Given the description of an element on the screen output the (x, y) to click on. 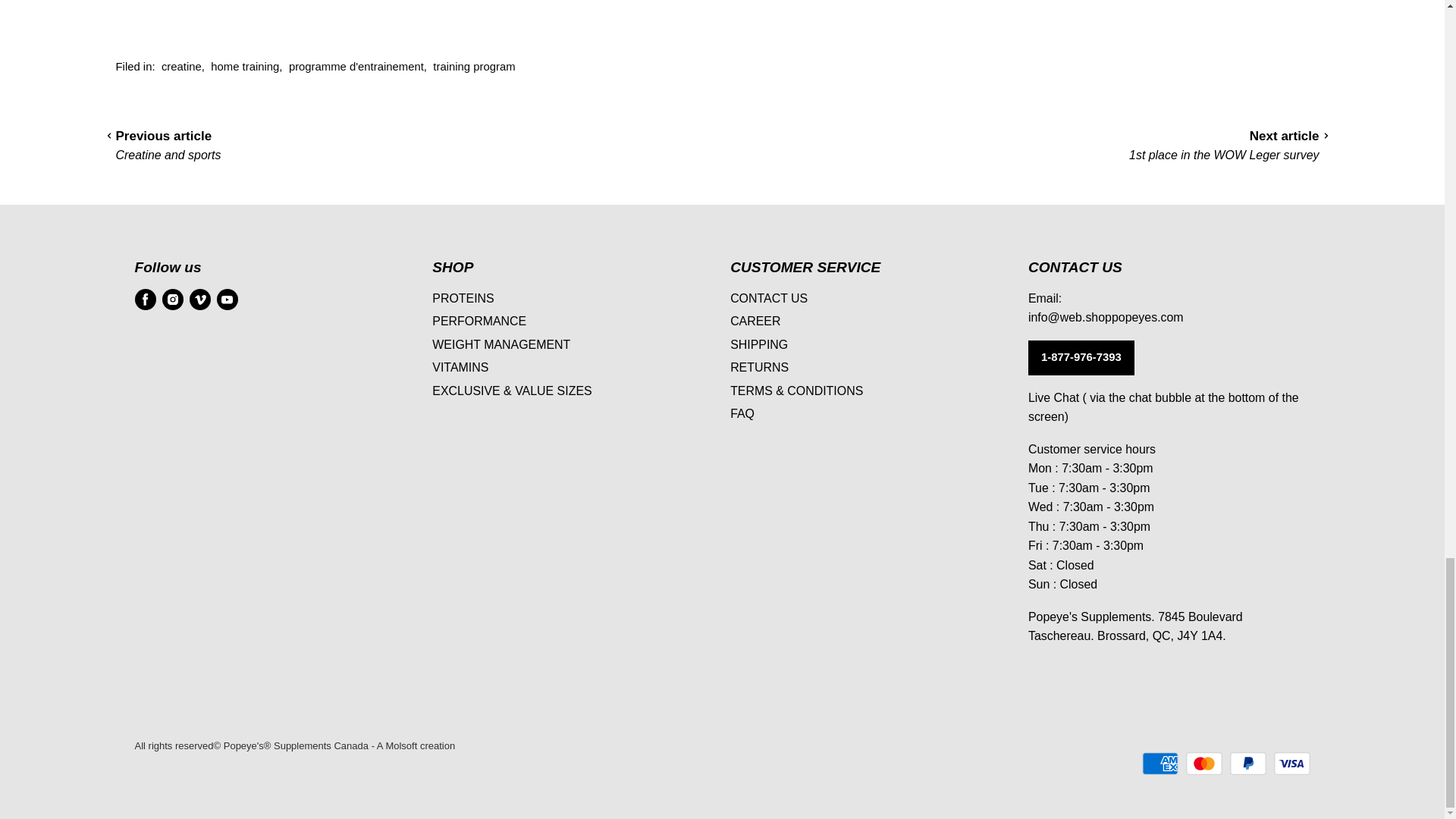
Vimeo (200, 298)
Show articles tagged training program (473, 66)
American Express (1159, 763)
Show articles tagged programme d'entrainement (355, 66)
Mastercard (1204, 763)
Show articles tagged home training (245, 66)
Show articles tagged creatine (181, 66)
Instagram (172, 298)
Youtube (227, 298)
Visa (1292, 763)
